Given the description of an element on the screen output the (x, y) to click on. 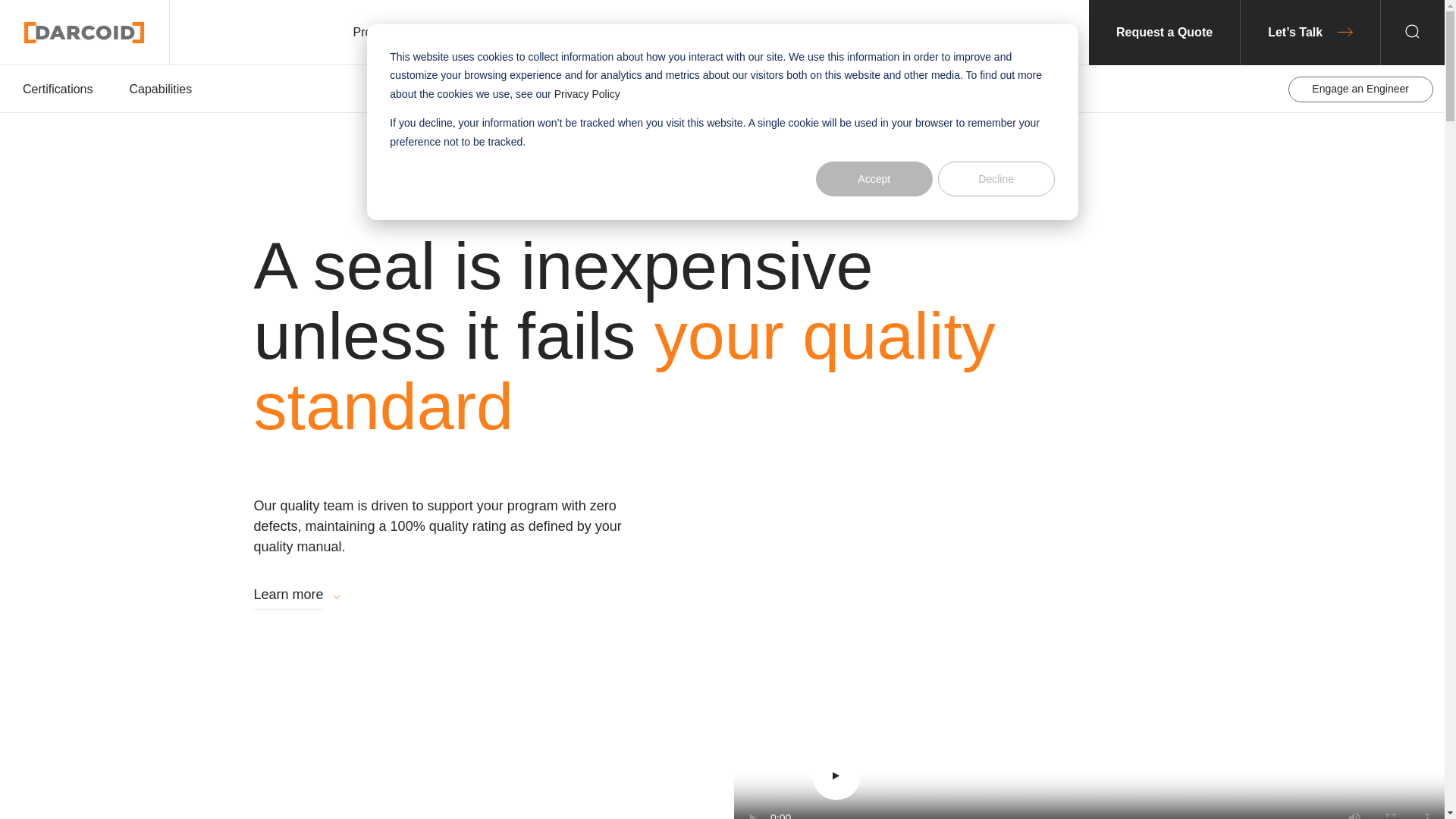
Capabilities (160, 89)
Engage an Engineer (1360, 89)
CRM Toolbox (84, 31)
Certifications (58, 89)
Request a Quote (1164, 32)
